Given the description of an element on the screen output the (x, y) to click on. 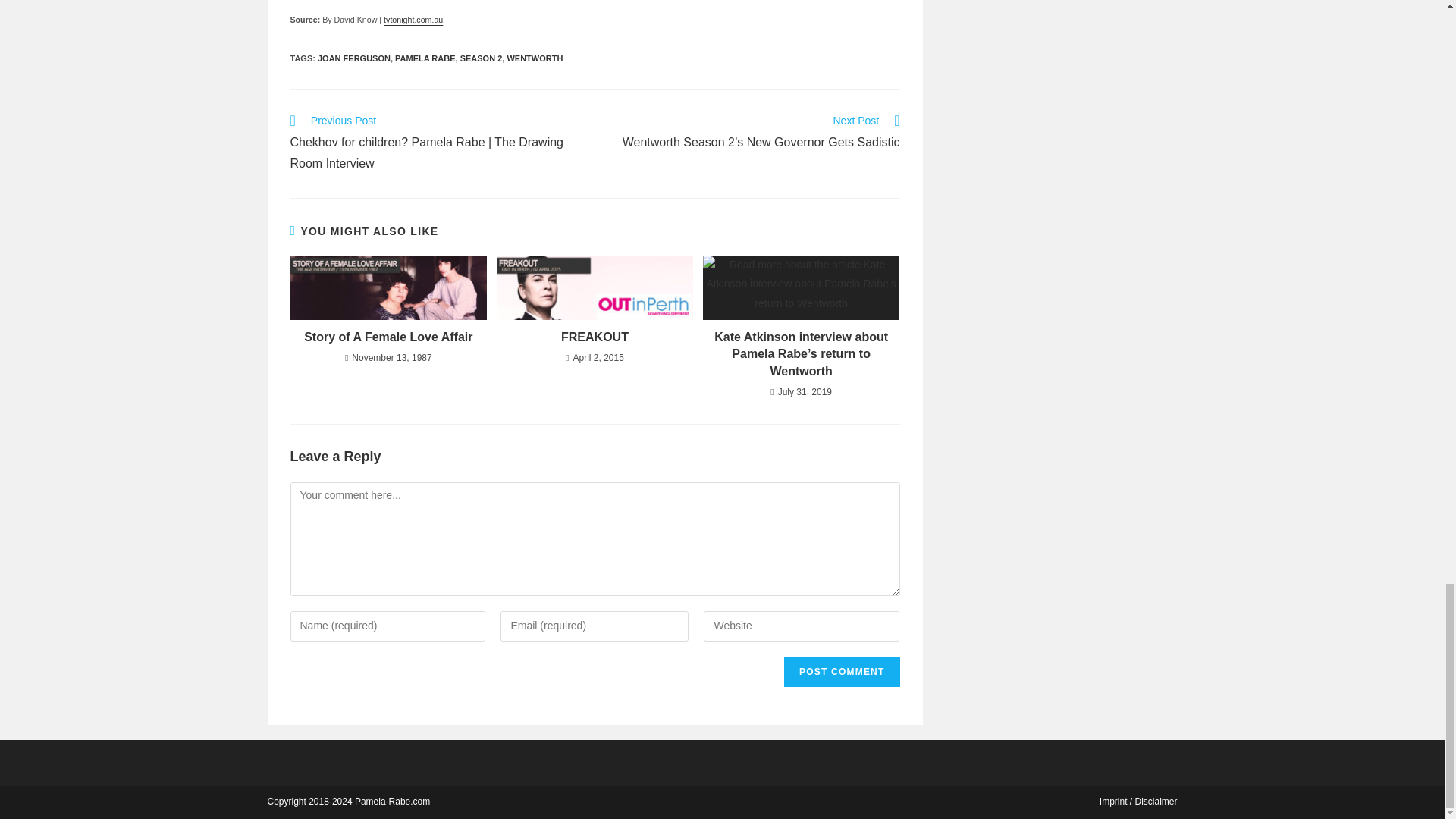
Post Comment (841, 671)
